Given the description of an element on the screen output the (x, y) to click on. 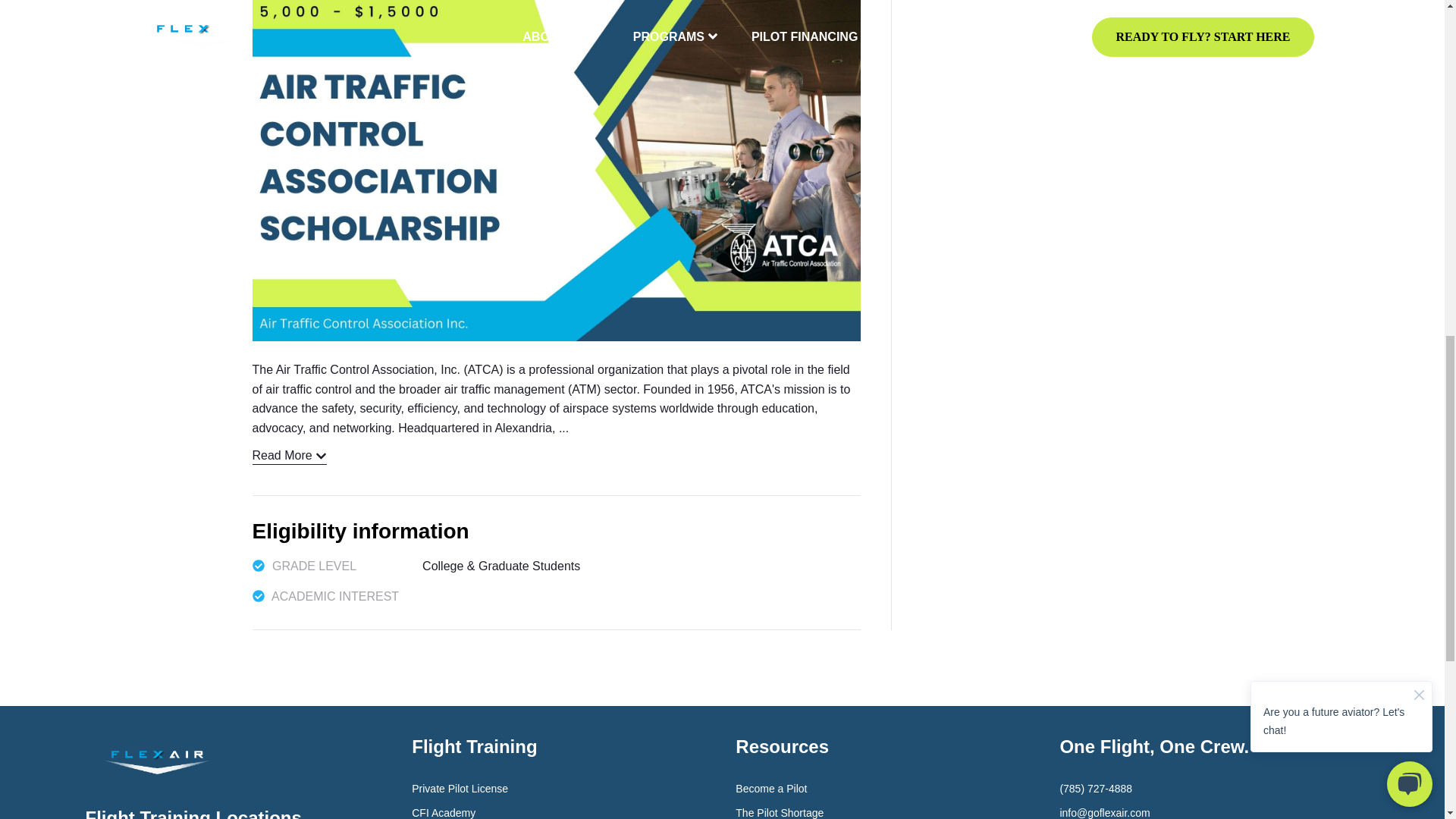
Read More (288, 456)
Flex Air (156, 762)
